Given the description of an element on the screen output the (x, y) to click on. 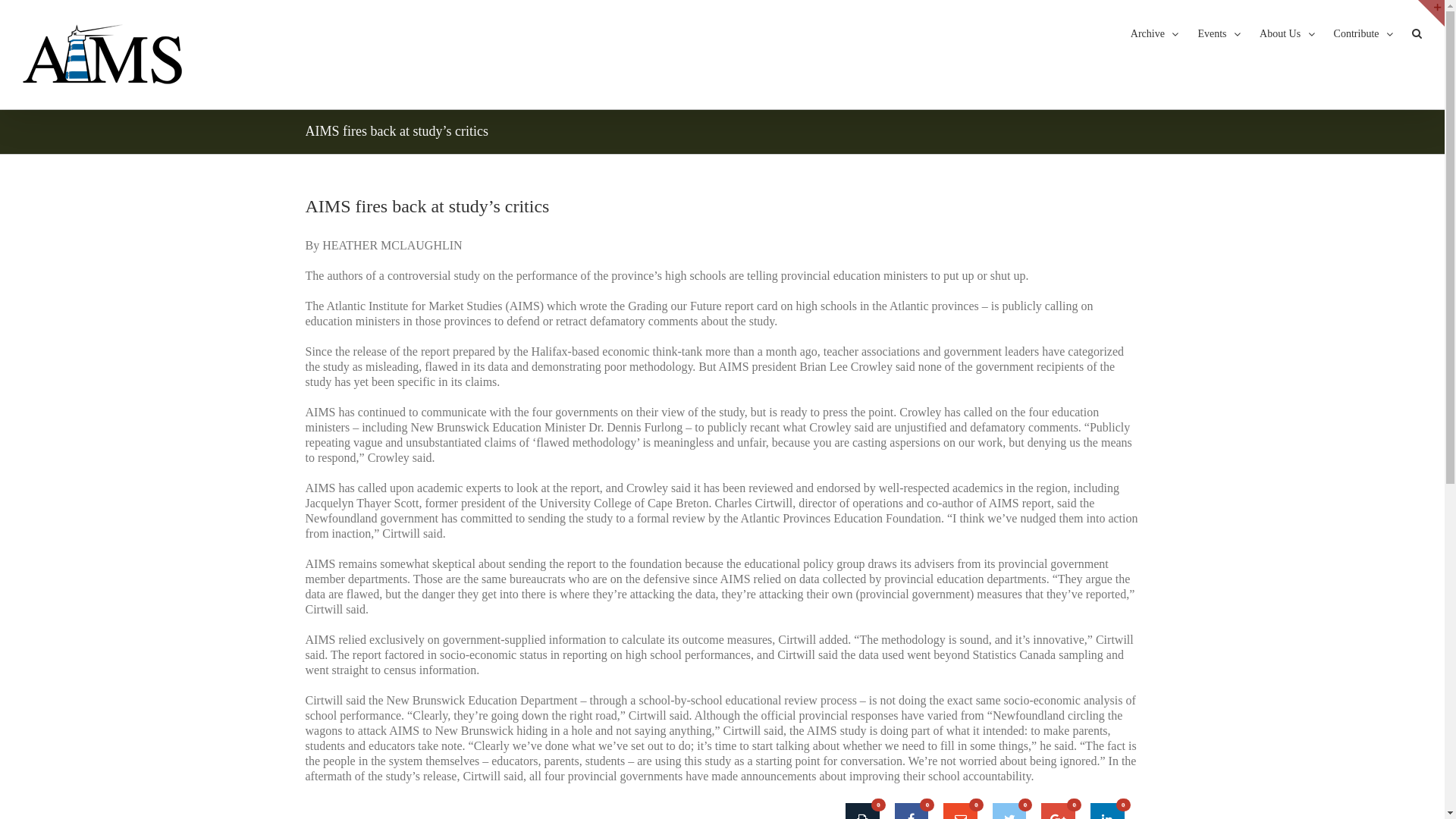
Contribute Element type: text (1363, 32)
Archive Element type: text (1154, 32)
About Us Element type: text (1286, 32)
Events Element type: text (1218, 32)
